Given the description of an element on the screen output the (x, y) to click on. 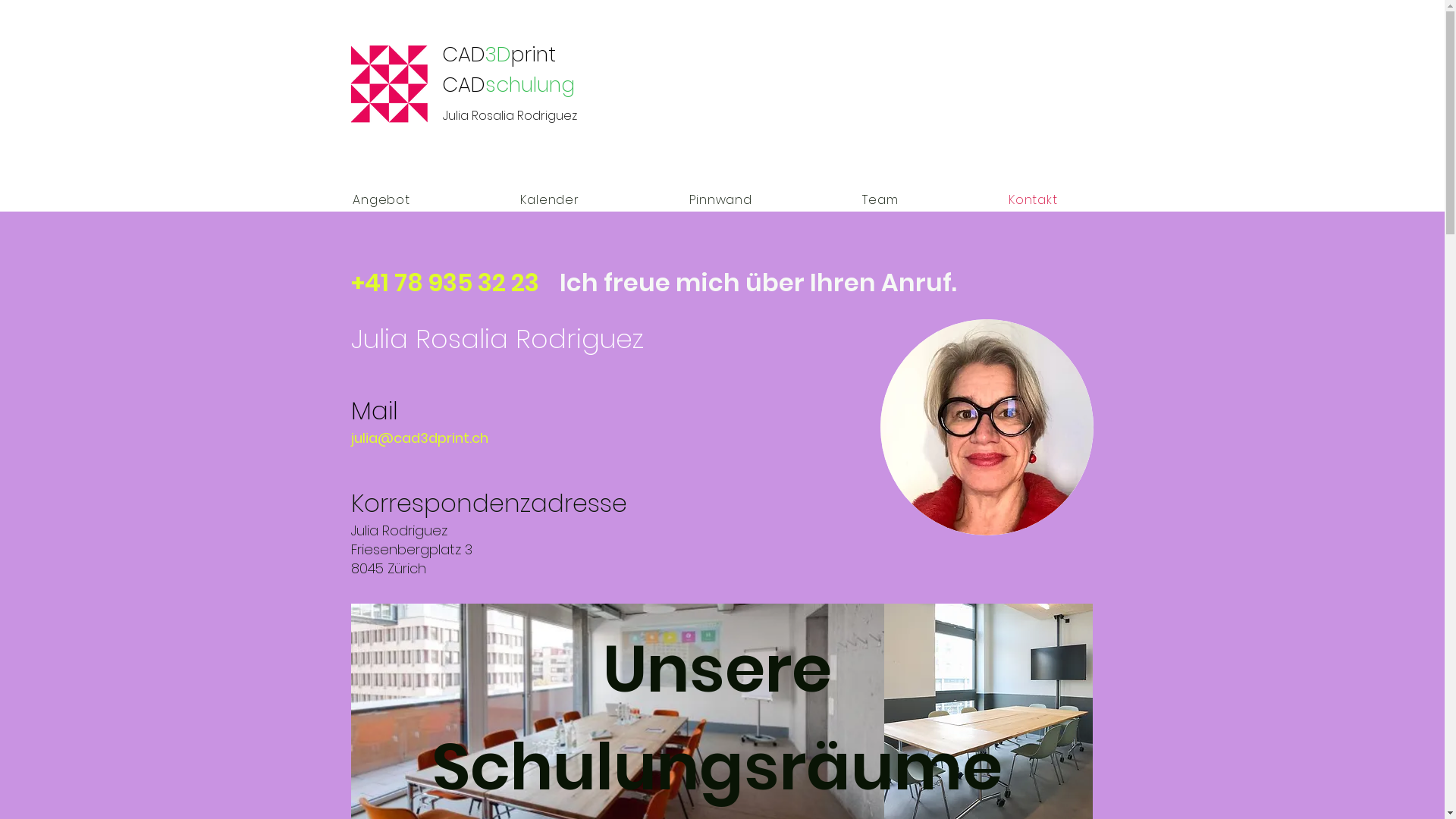
julia@cad3dprint.ch Element type: text (418, 437)
CAD3Dprint Element type: text (498, 54)
Julia Rosalia Rodriguez Element type: text (509, 115)
Kontakt Element type: text (1032, 199)
Kalender Element type: text (549, 199)
Pinnwand Element type: text (720, 199)
Angebot Element type: text (380, 199)
Team Element type: text (880, 199)
Friesenbergplatz 3 Element type: text (410, 548)
CADschulung Element type: text (507, 84)
